Given the description of an element on the screen output the (x, y) to click on. 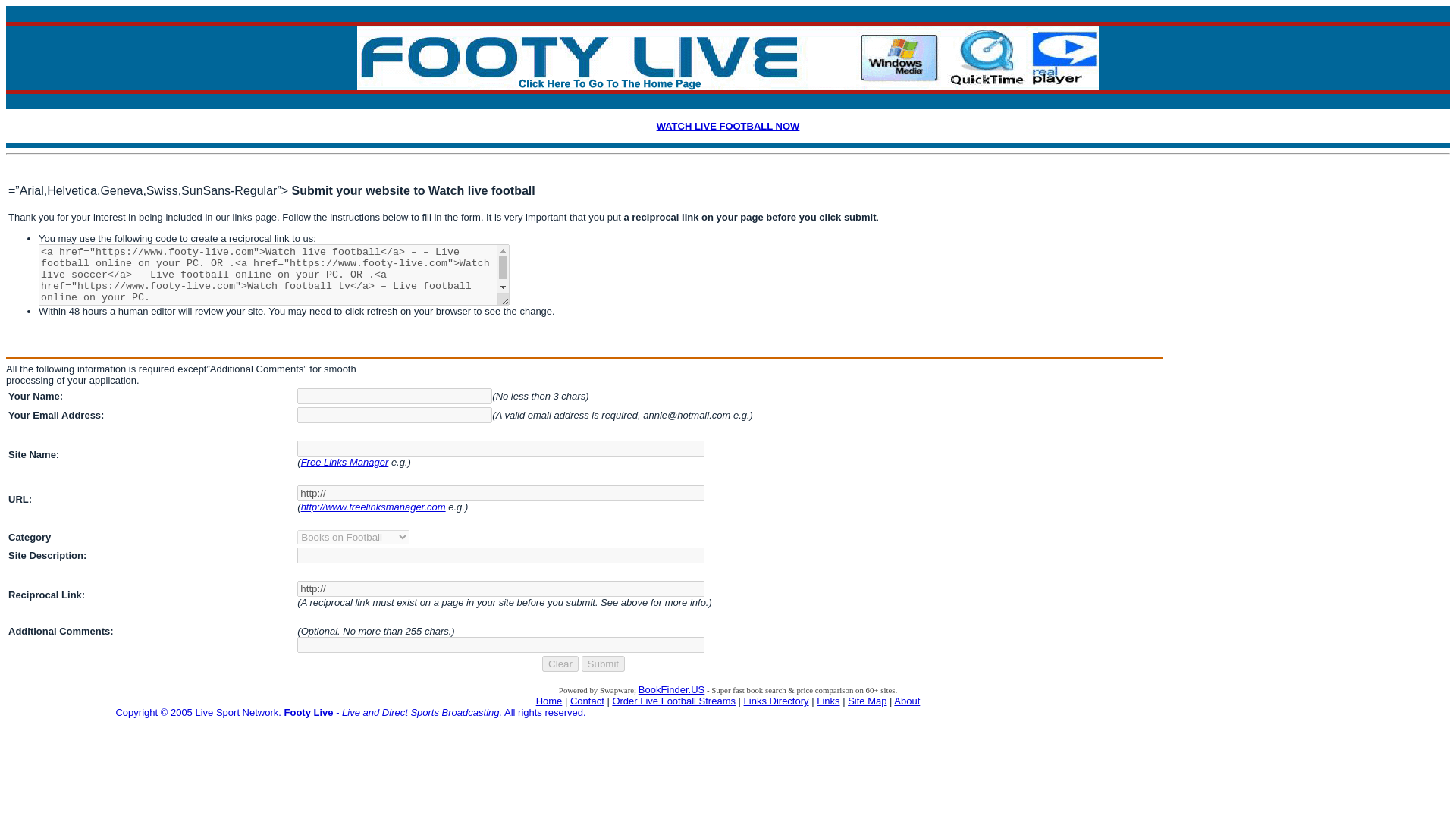
Submit (602, 663)
Premiership English Football Live (548, 700)
Contact (587, 700)
Clear (559, 663)
Links (776, 700)
Place Order - Watch Live Football Streams Online (673, 700)
About (906, 700)
Links (828, 700)
Footy Live - Live Sports Network (544, 712)
Links (828, 700)
Site Map (866, 700)
Footy Live - Live and Direct Sports Broadcasting. (392, 712)
Footy Live - Watch Live Football Streams On Your PC (392, 712)
Order Live Football Streams (673, 700)
Free Links Manager (344, 461)
